Given the description of an element on the screen output the (x, y) to click on. 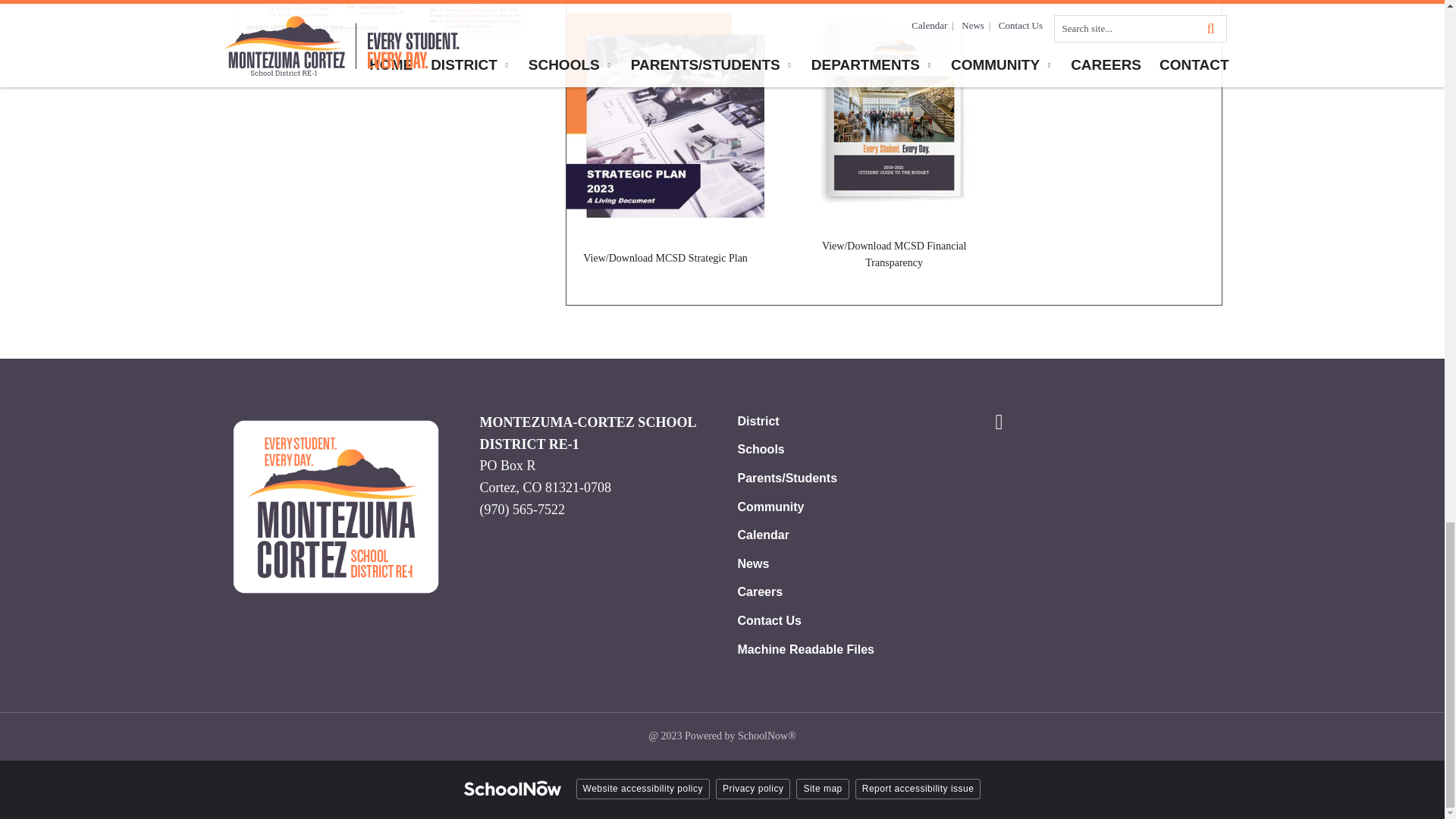
SchoolNow website link (512, 789)
